Given the description of an element on the screen output the (x, y) to click on. 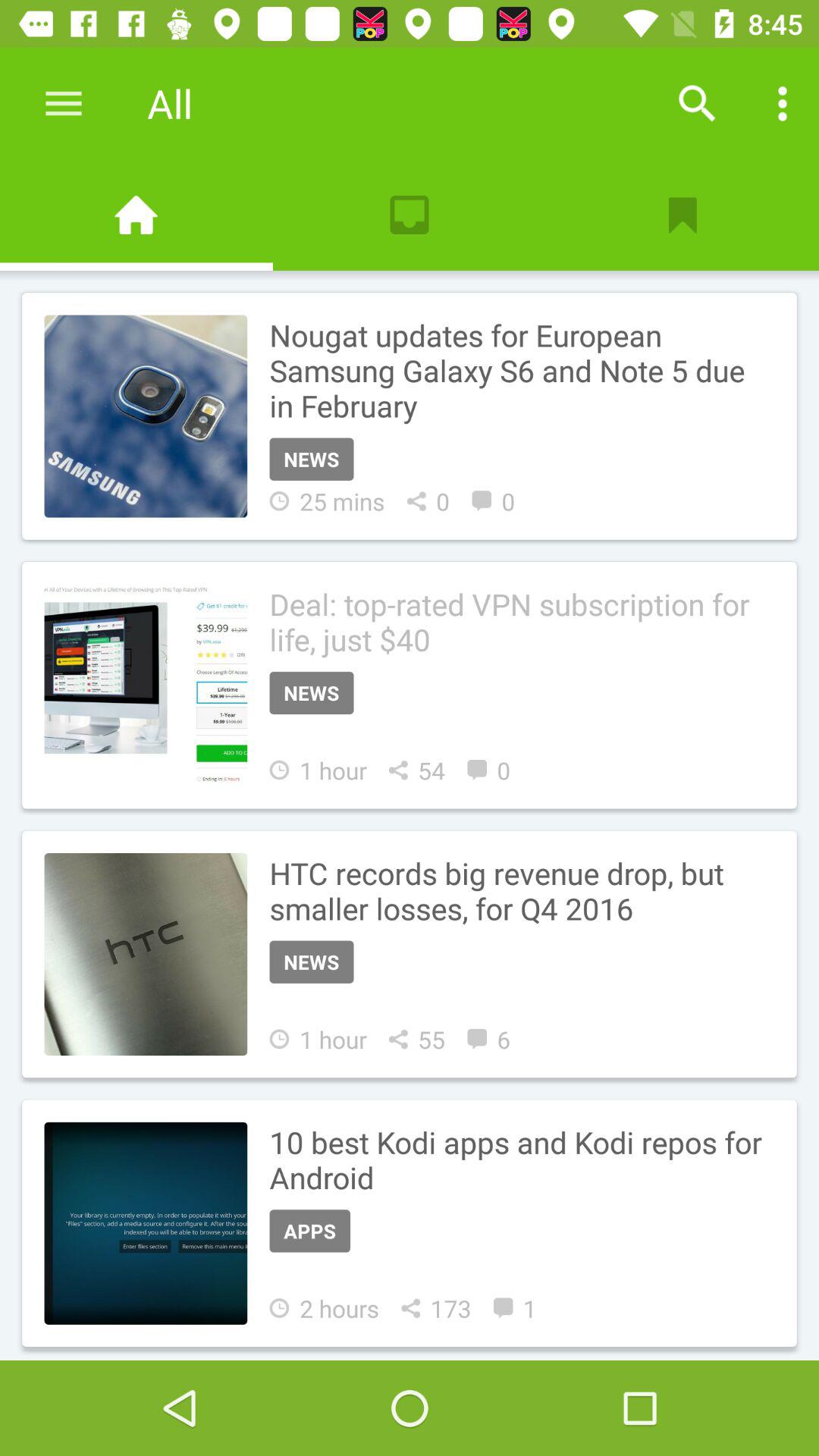
options (782, 103)
